Given the description of an element on the screen output the (x, y) to click on. 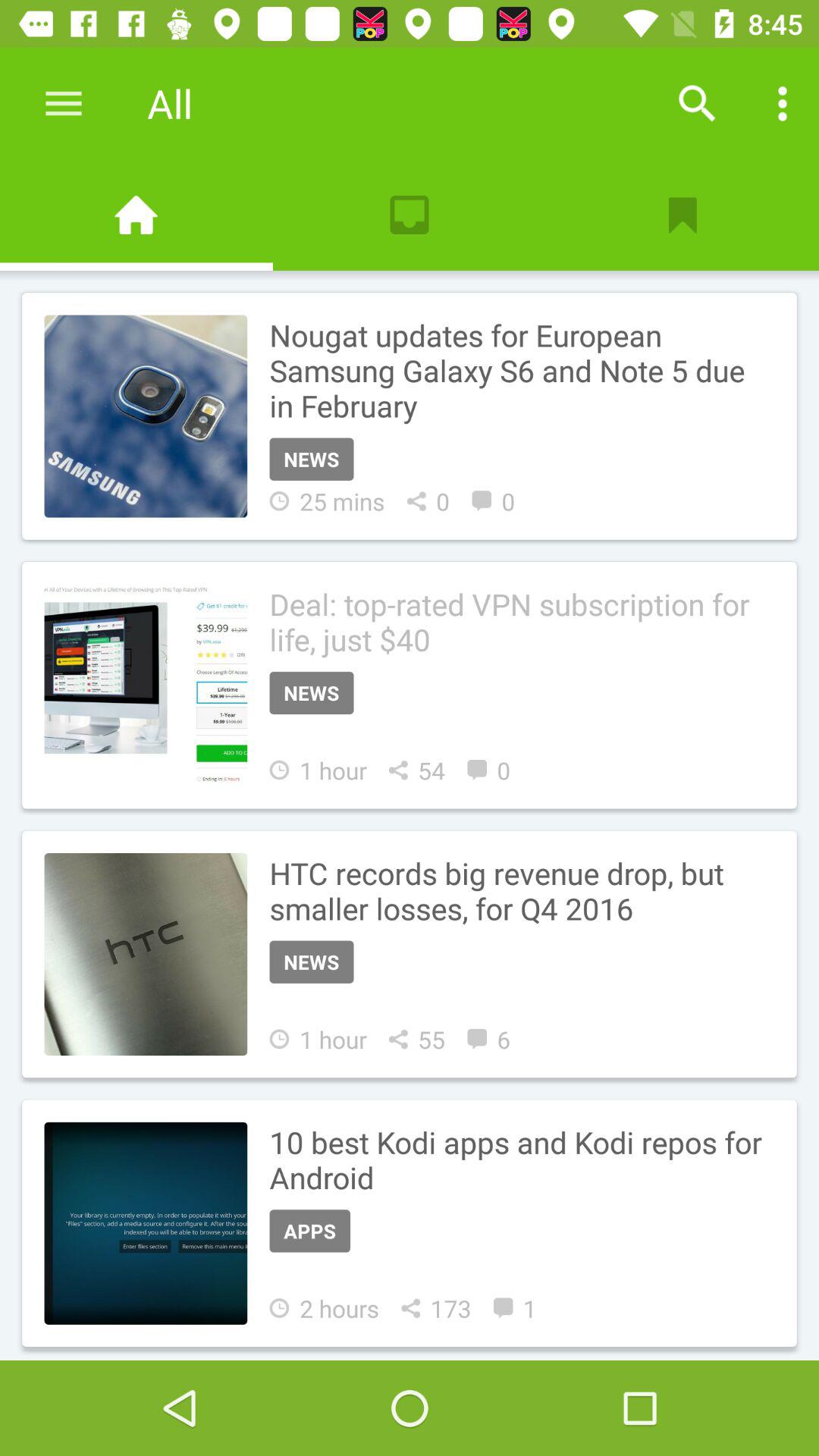
options (782, 103)
